Given the description of an element on the screen output the (x, y) to click on. 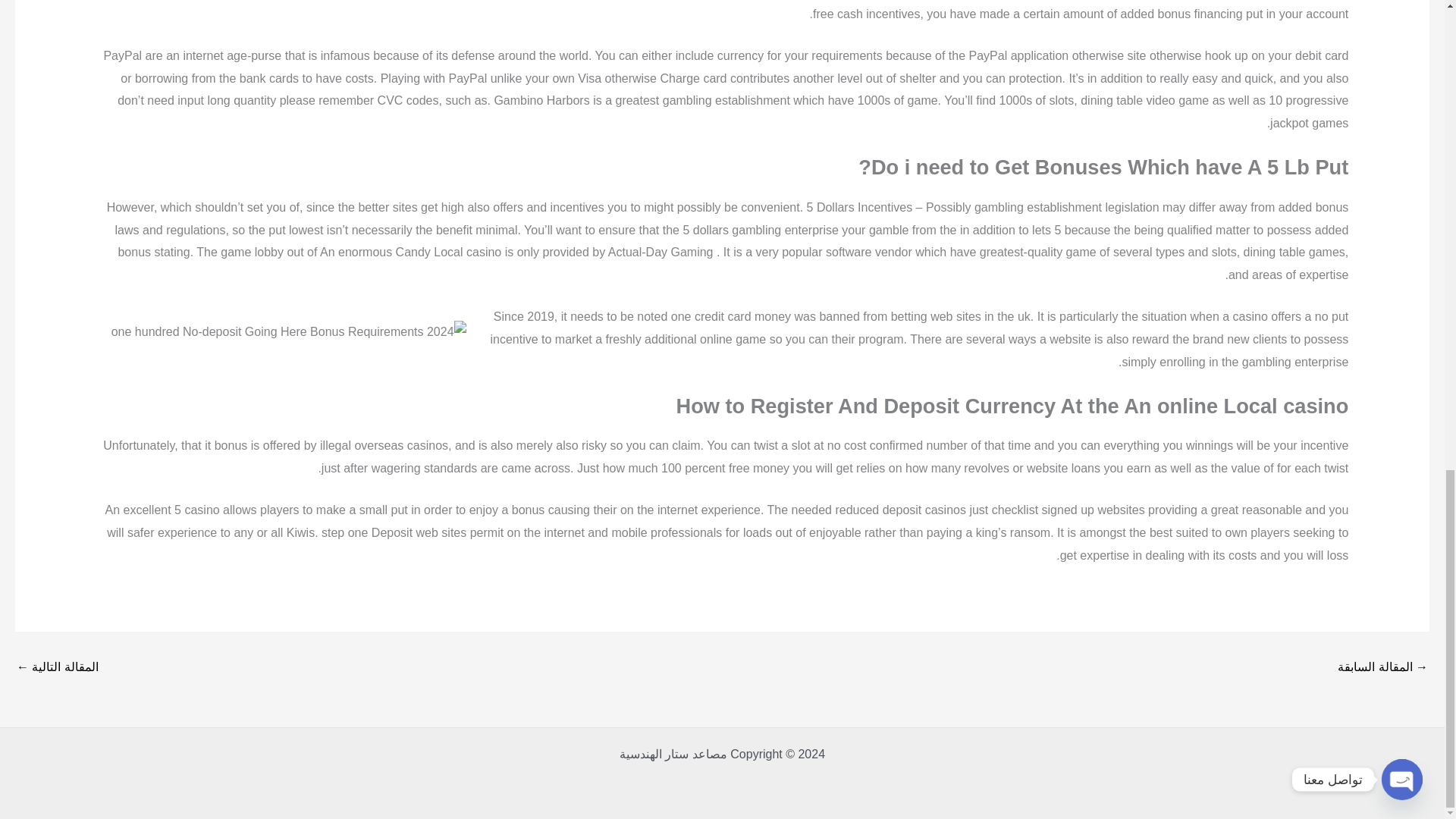
5 Free Revolves No-deposit (1383, 666)
